Given the description of an element on the screen output the (x, y) to click on. 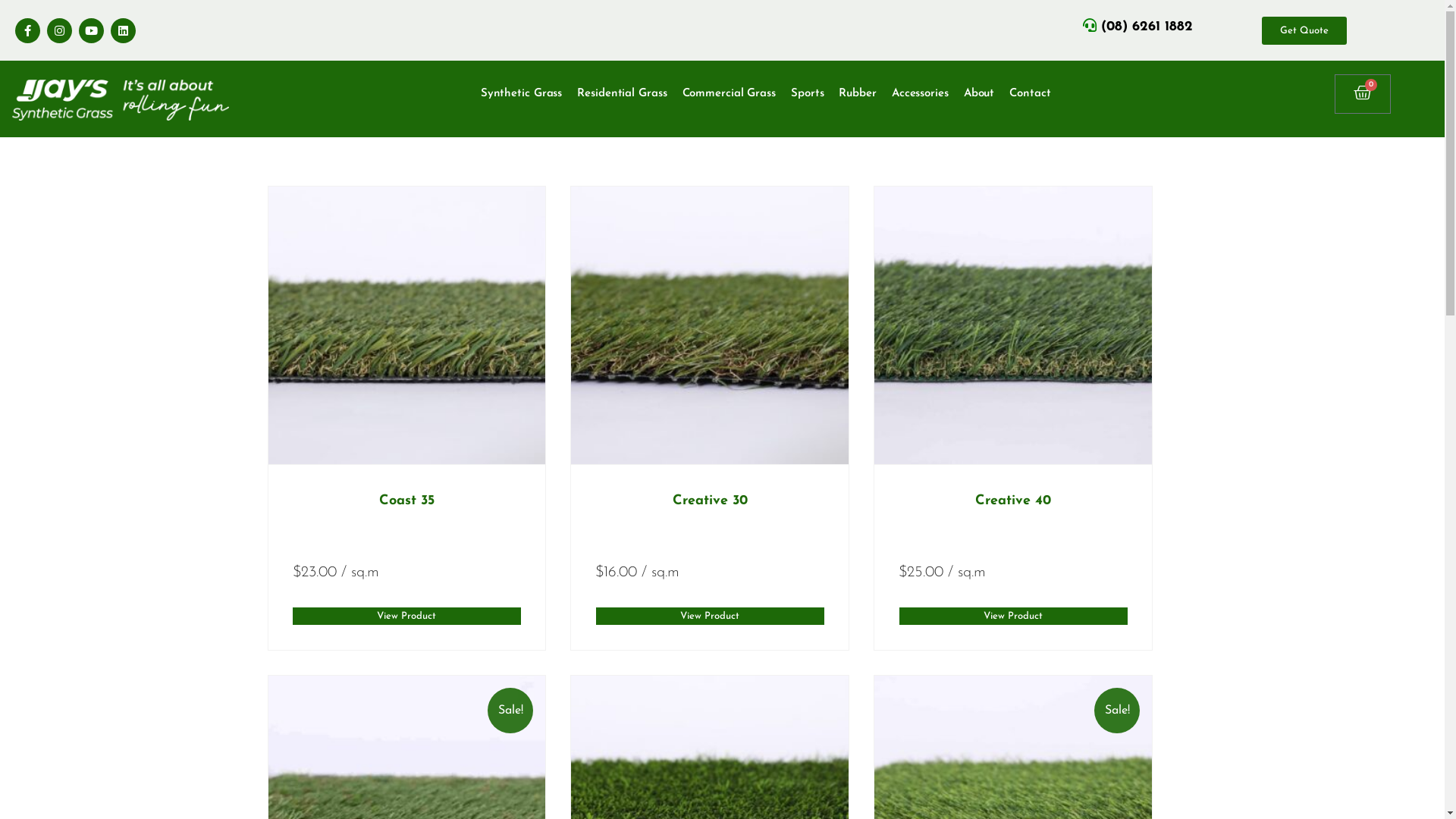
0 Element type: text (1362, 93)
View Product Element type: text (406, 615)
Accessories Element type: text (920, 93)
Residential Grass Element type: text (621, 93)
Get Quote Element type: text (1303, 30)
View Product Element type: text (1013, 615)
Sports Element type: text (807, 93)
Creative 30 Element type: text (709, 500)
creative Element type: hover (709, 325)
Creative-40-(3) Element type: hover (1012, 325)
coast 35 Element type: hover (407, 325)
Commercial Grass Element type: text (728, 93)
View Product Element type: text (710, 615)
About Element type: text (979, 93)
Contact Element type: text (1029, 93)
Rubber Element type: text (857, 93)
Synthetic Grass Element type: text (521, 93)
Creative 40 Element type: text (1013, 500)
Coast 35 Element type: text (406, 500)
